Given the description of an element on the screen output the (x, y) to click on. 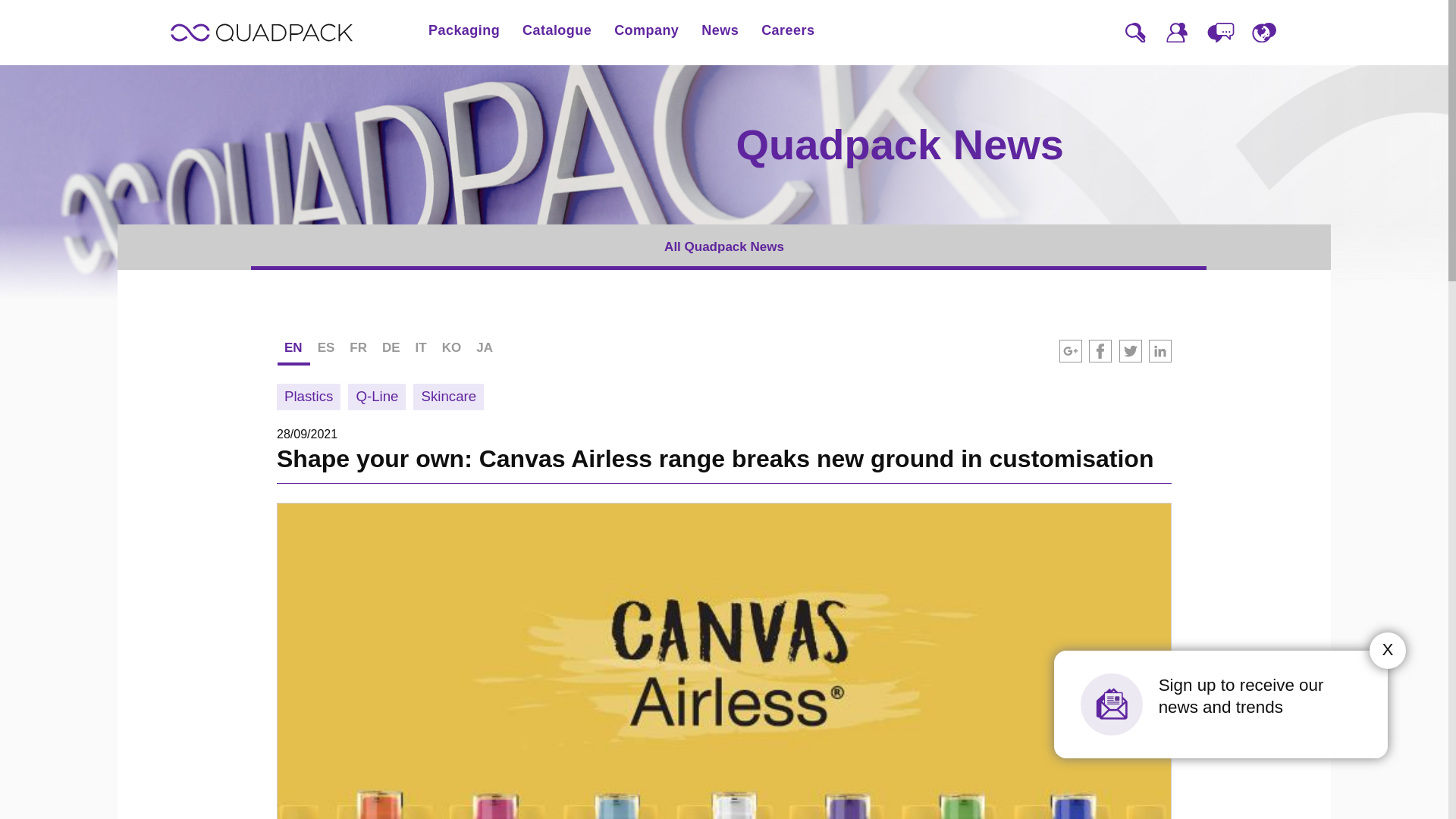
Packaging (463, 30)
Catalogue (556, 30)
Company (646, 30)
